Given the description of an element on the screen output the (x, y) to click on. 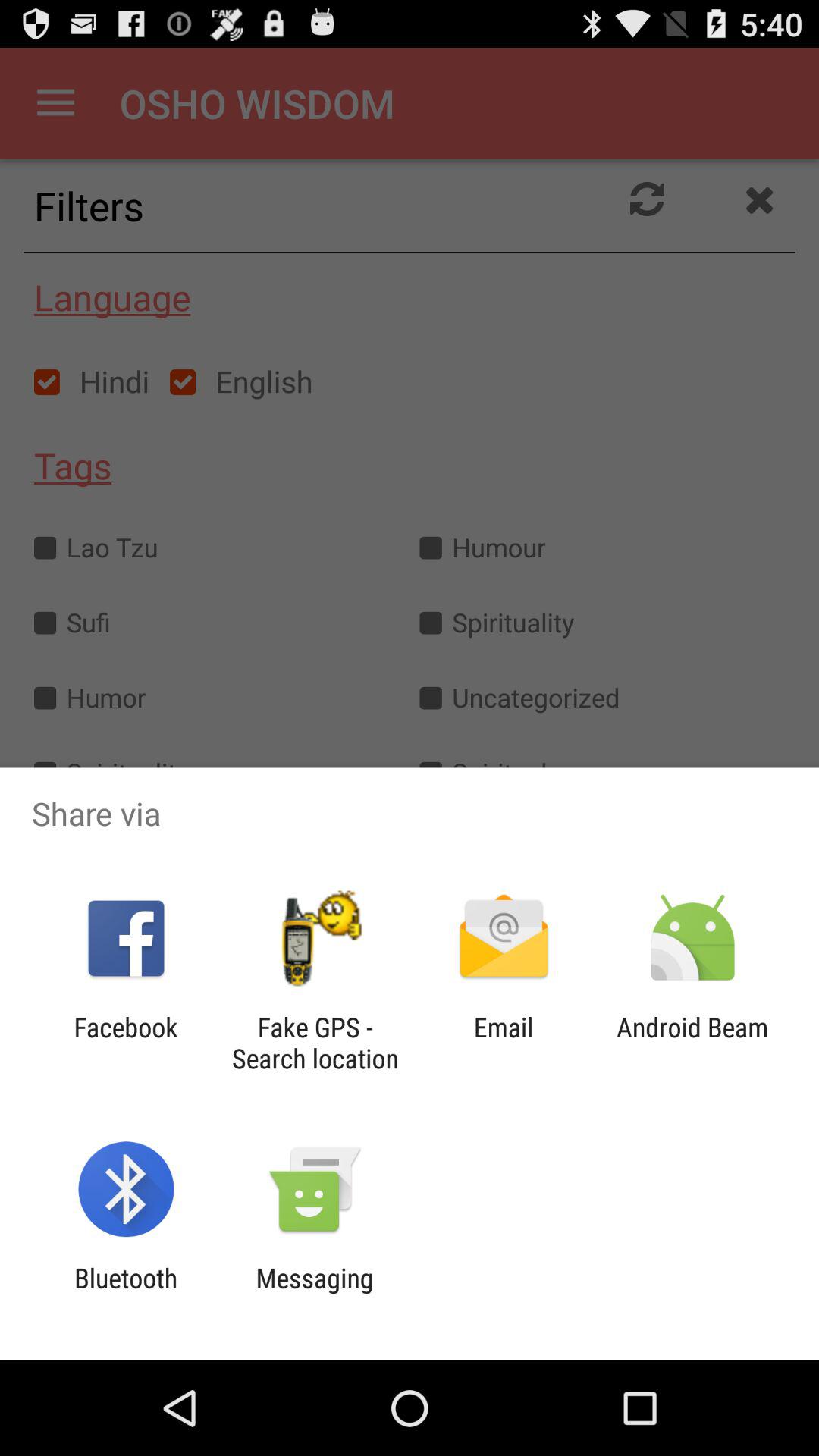
turn off the android beam (692, 1042)
